Given the description of an element on the screen output the (x, y) to click on. 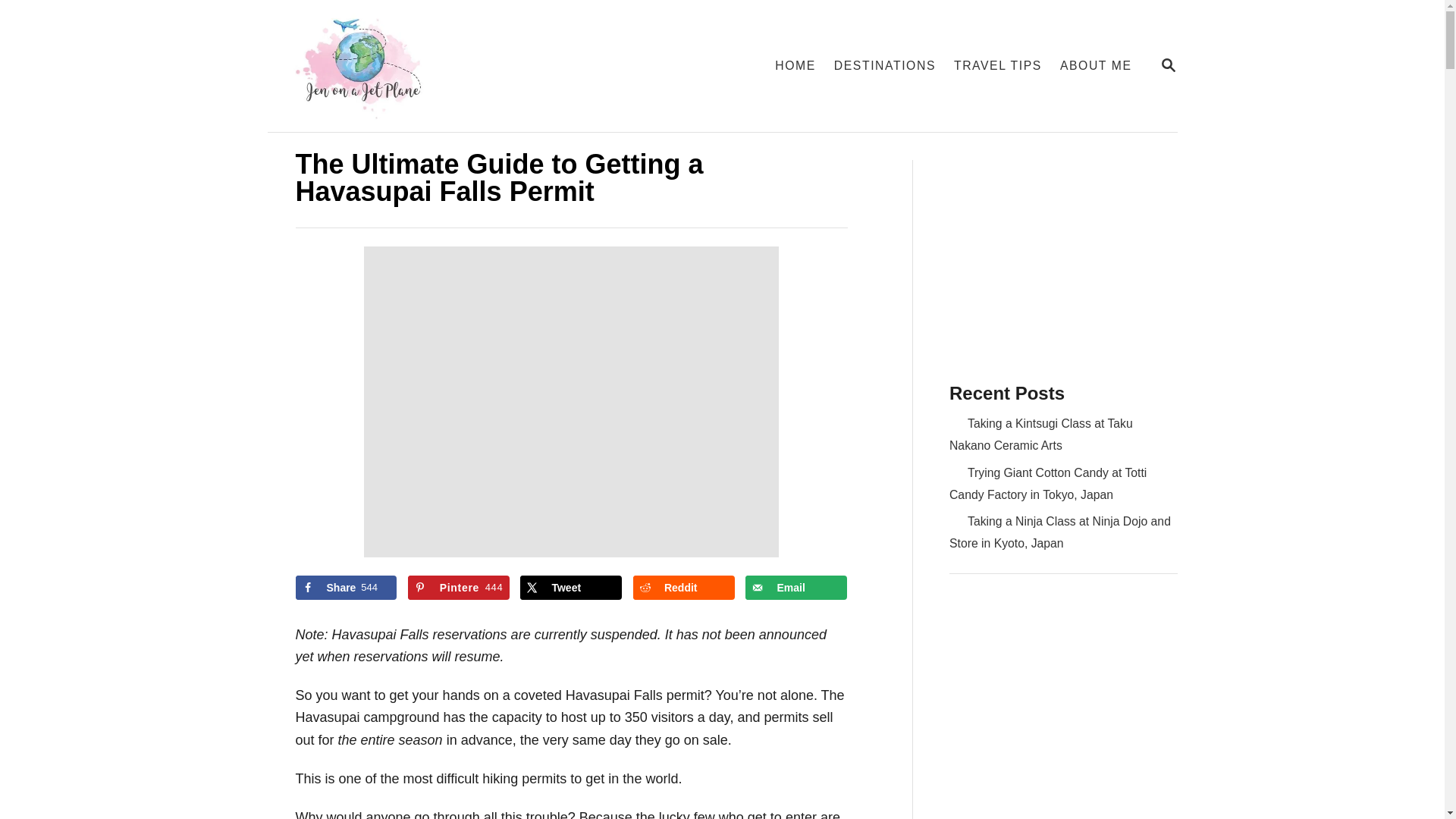
HOME (795, 65)
Share on Facebook (346, 587)
Send over email (796, 587)
Jen on a Jet Plane (448, 65)
DESTINATIONS (884, 65)
Share on X (570, 587)
MAGNIFYING GLASS (1167, 65)
Share on Reddit (684, 587)
Save to Pinterest (458, 587)
